Given the description of an element on the screen output the (x, y) to click on. 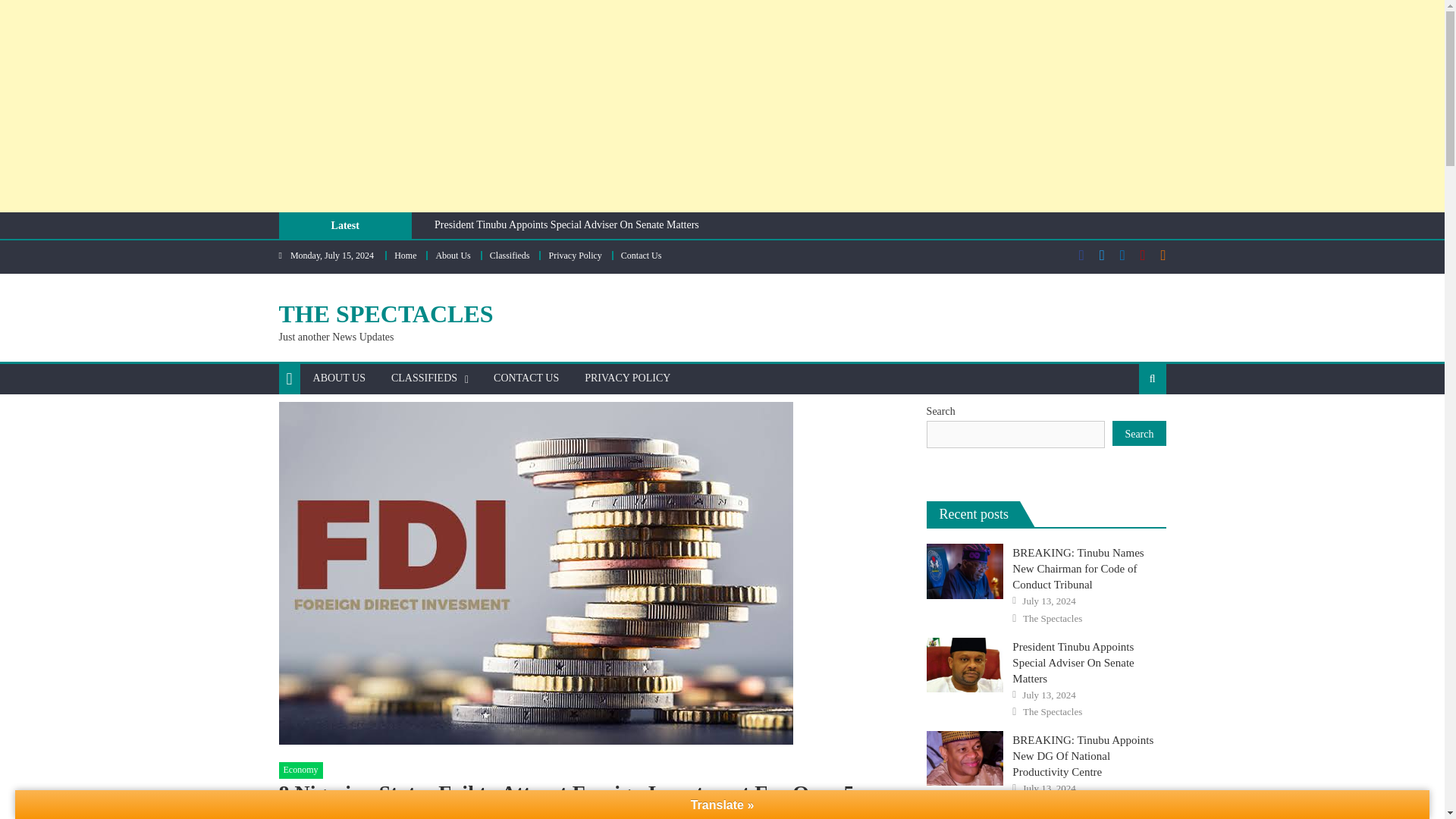
Search (1128, 428)
About Us (452, 255)
ABOUT US (339, 378)
Contact Us (641, 255)
CLASSIFIEDS (424, 378)
President Tinubu Appoints Special Adviser On Senate Matters (565, 224)
THE SPECTACLES (386, 313)
Privacy Policy (574, 255)
CONTACT US (525, 378)
Home (405, 255)
PRIVACY POLICY (627, 378)
Economy (301, 770)
Classifieds (509, 255)
